Given the description of an element on the screen output the (x, y) to click on. 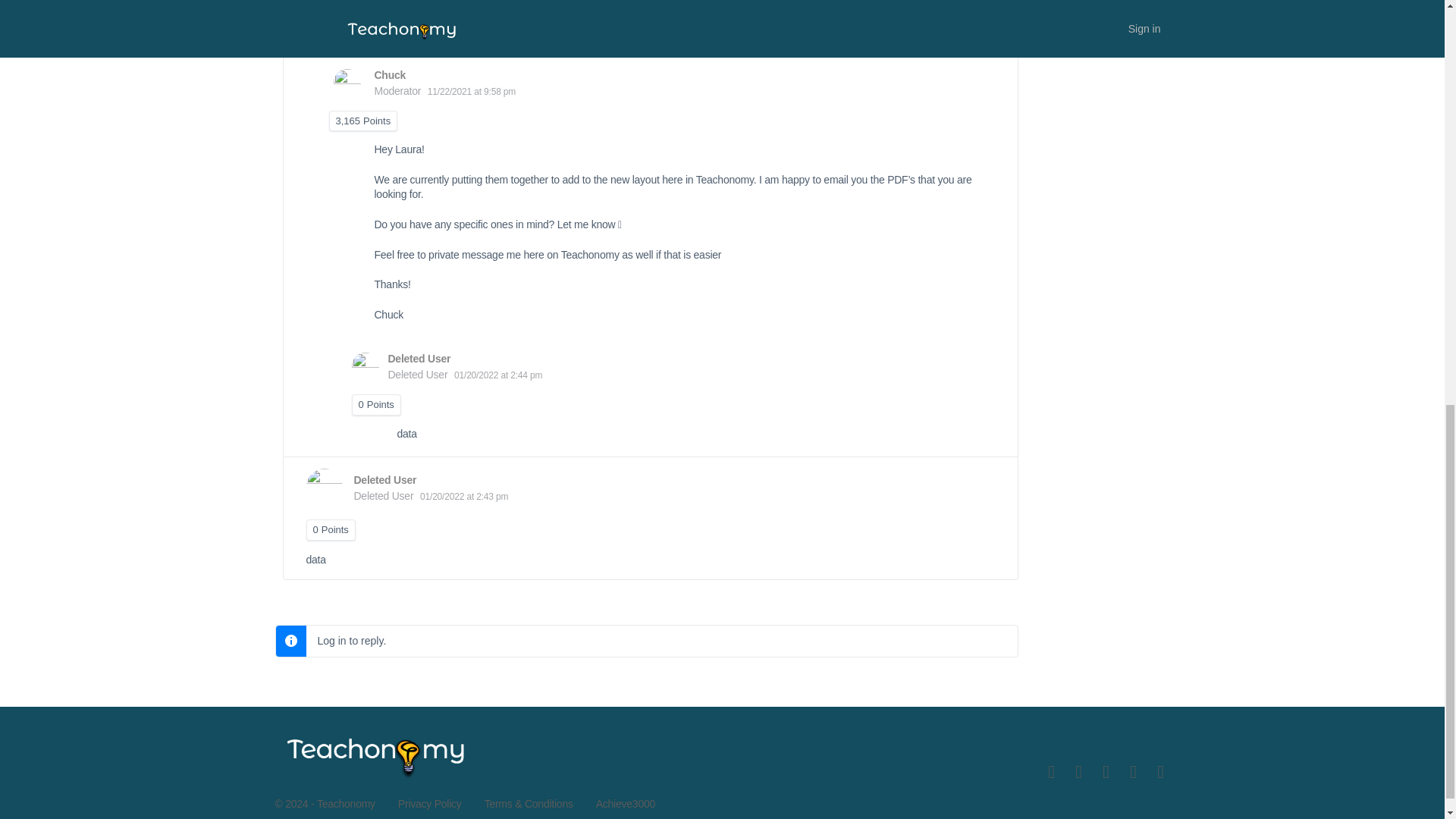
Chuck (390, 74)
View Chuck's profile (390, 74)
View Chuck's profile (347, 82)
